Given the description of an element on the screen output the (x, y) to click on. 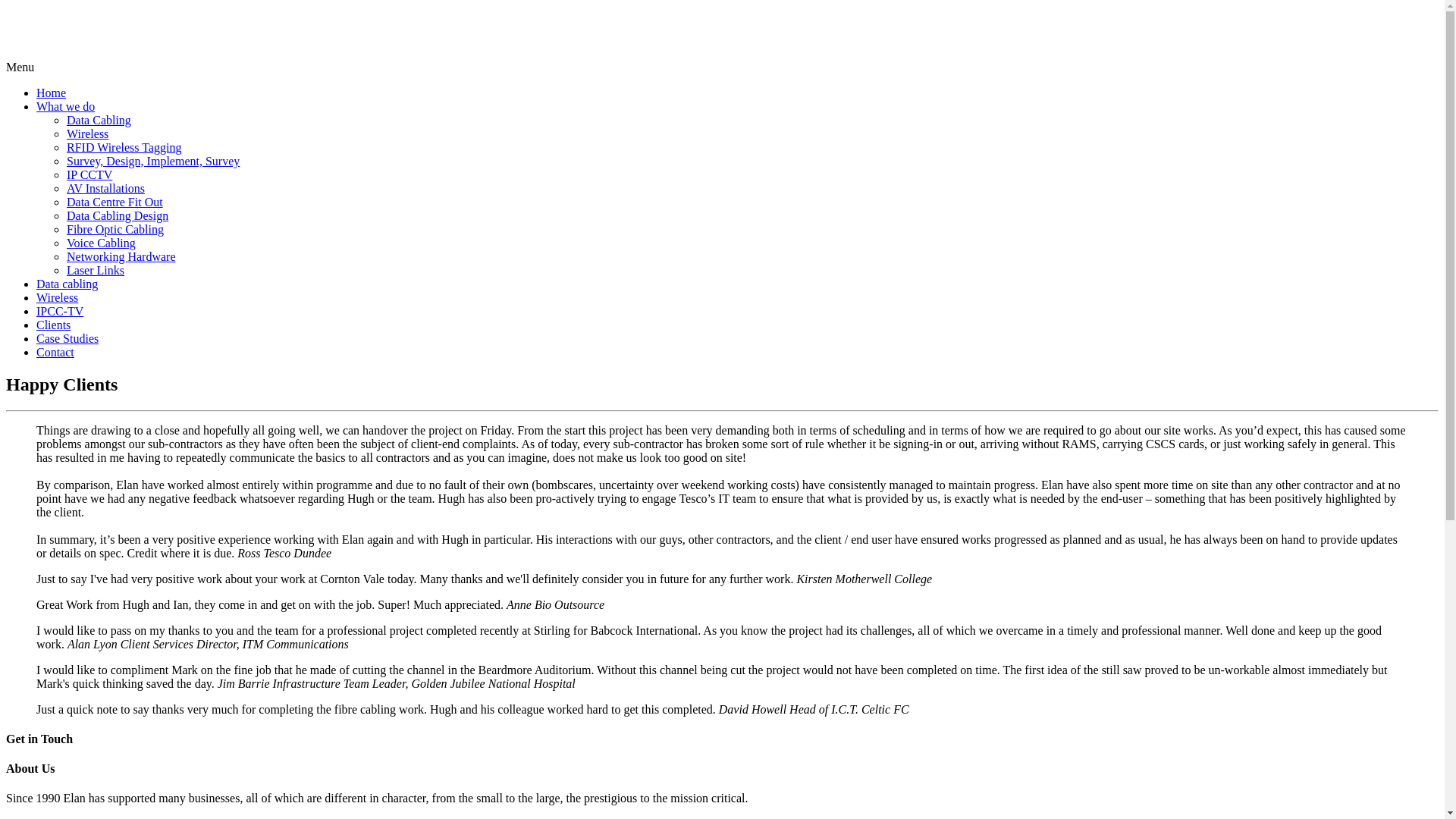
Menu (19, 66)
Case Studies (67, 338)
Data Centre Fit Out (114, 201)
Data Cabling (98, 119)
Wireless (57, 297)
AV Installations (105, 187)
IPCC-TV (59, 310)
Home (50, 92)
Survey, Design, Implement, Survey (153, 160)
Networking Hardware (121, 256)
Fibre Optic Cabling (114, 228)
Data Cabling Design (117, 215)
RFID Wireless Tagging (123, 146)
Voice Cabling (100, 242)
IP CCTV (89, 174)
